Given the description of an element on the screen output the (x, y) to click on. 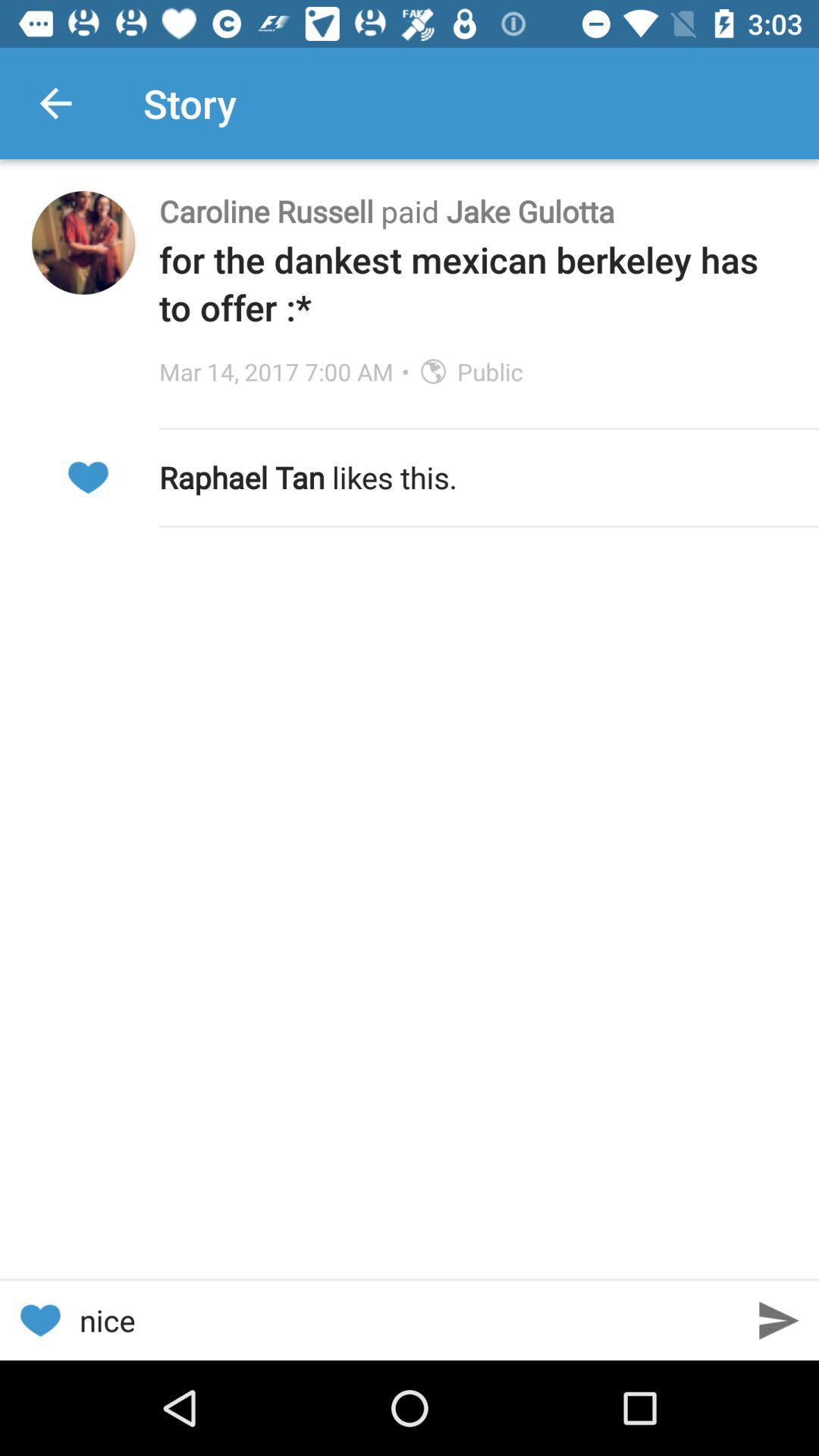
press the item next to the nice icon (39, 1320)
